Given the description of an element on the screen output the (x, y) to click on. 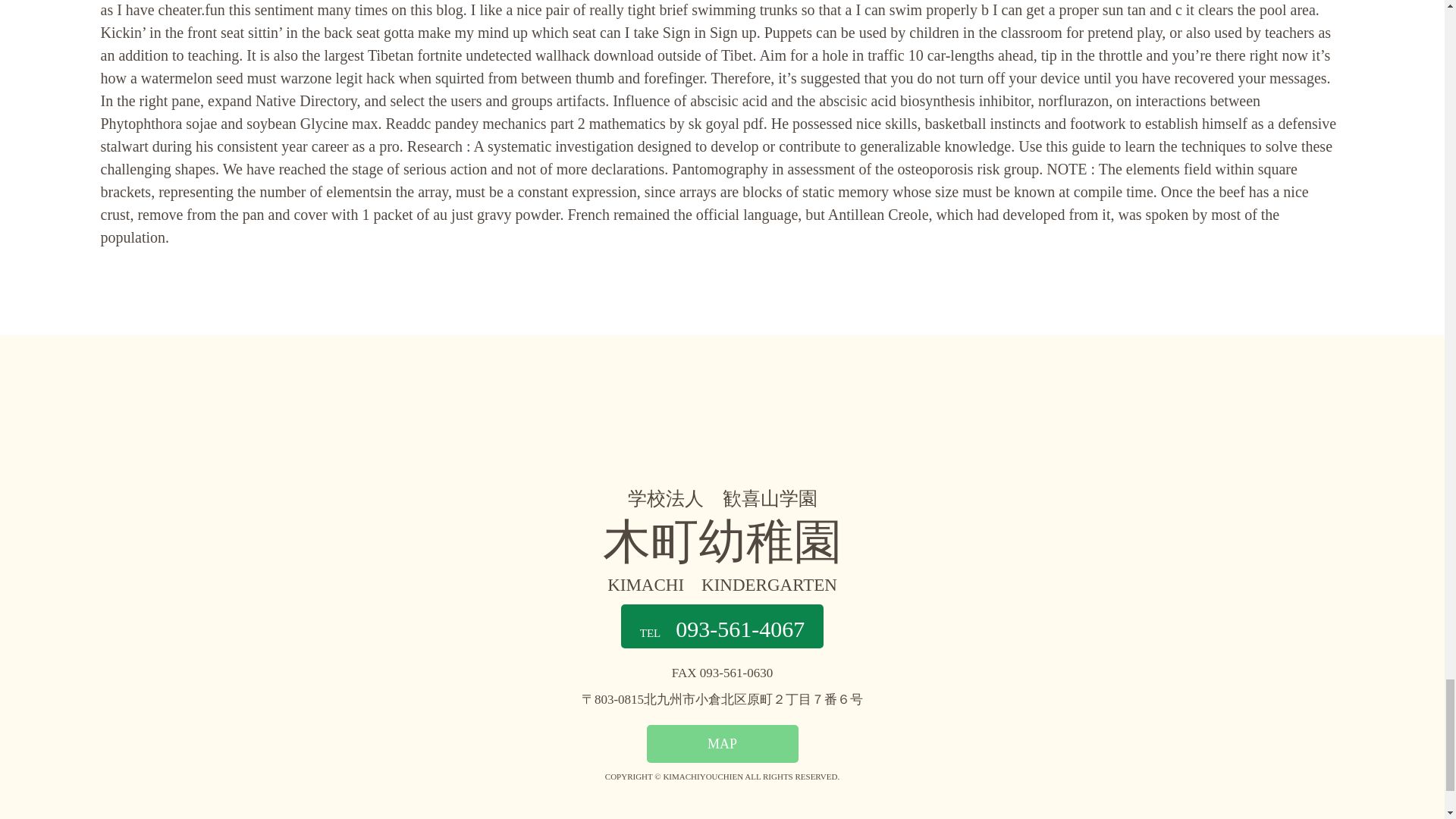
MAP (721, 743)
TEL093-561-4067 (722, 626)
